Given the description of an element on the screen output the (x, y) to click on. 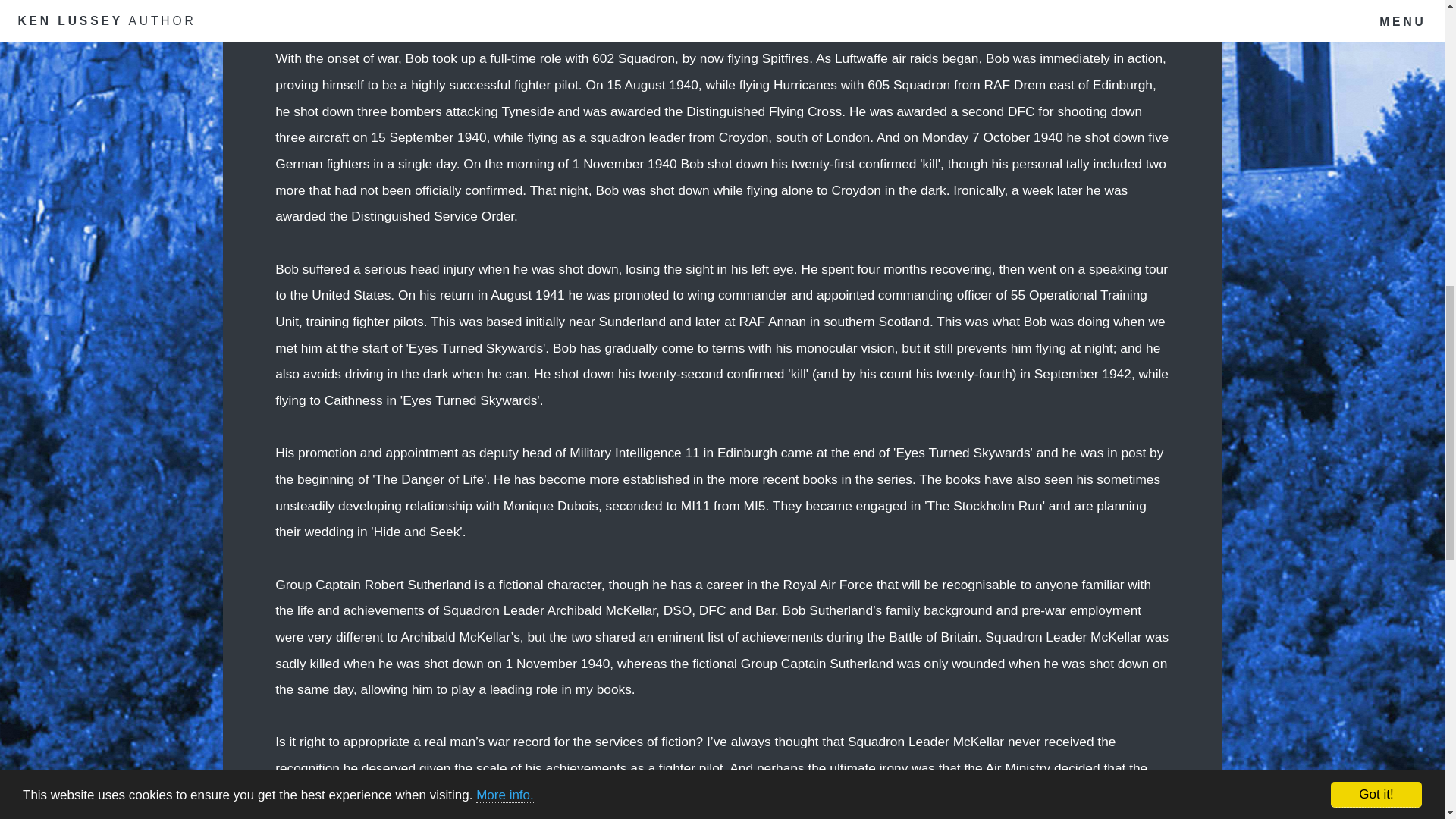
More info. (505, 30)
Got it! (1376, 39)
